Given the description of an element on the screen output the (x, y) to click on. 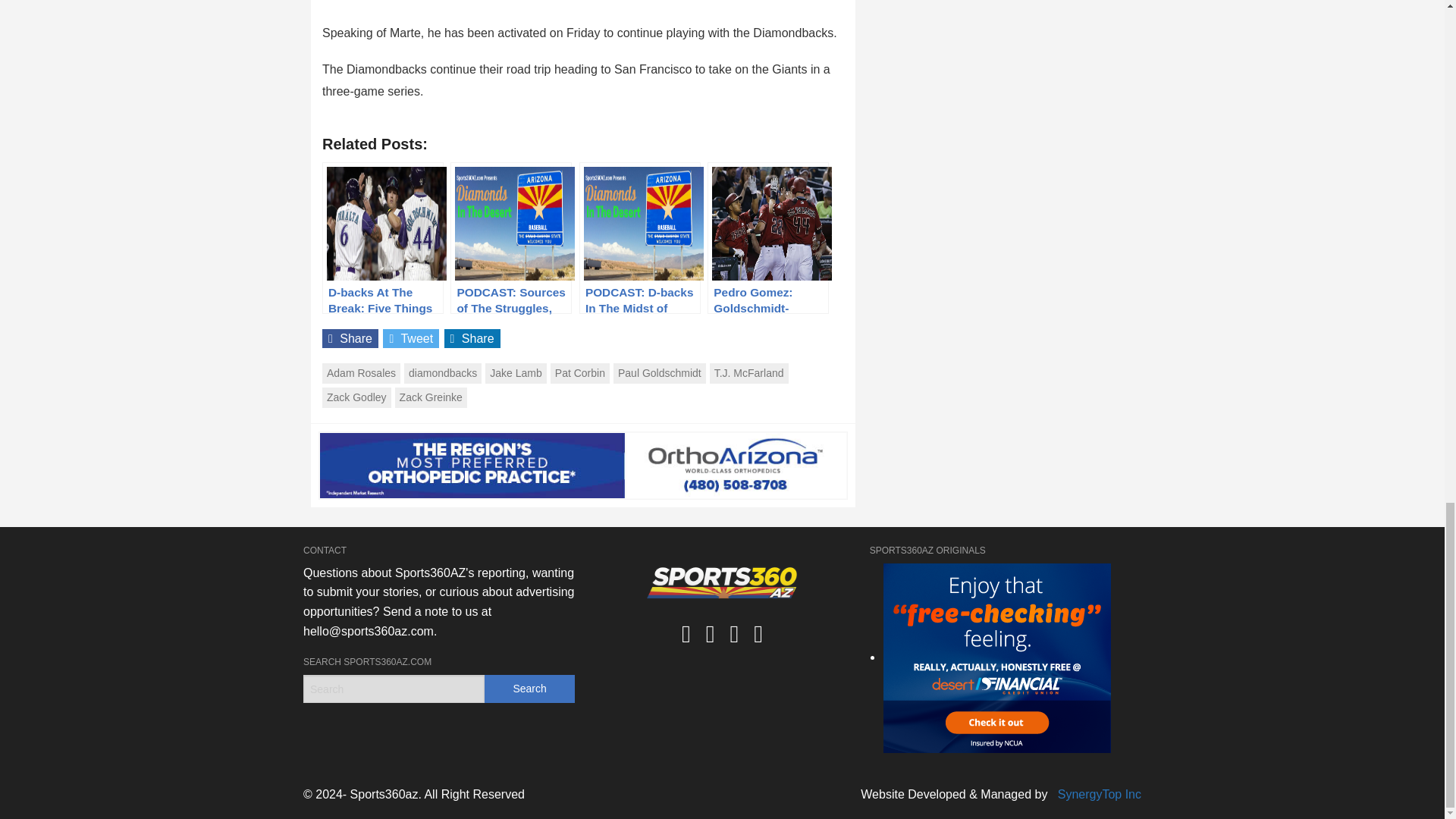
Share this on Twitter (410, 338)
Share on Facebook (349, 338)
Search (529, 688)
